Given the description of an element on the screen output the (x, y) to click on. 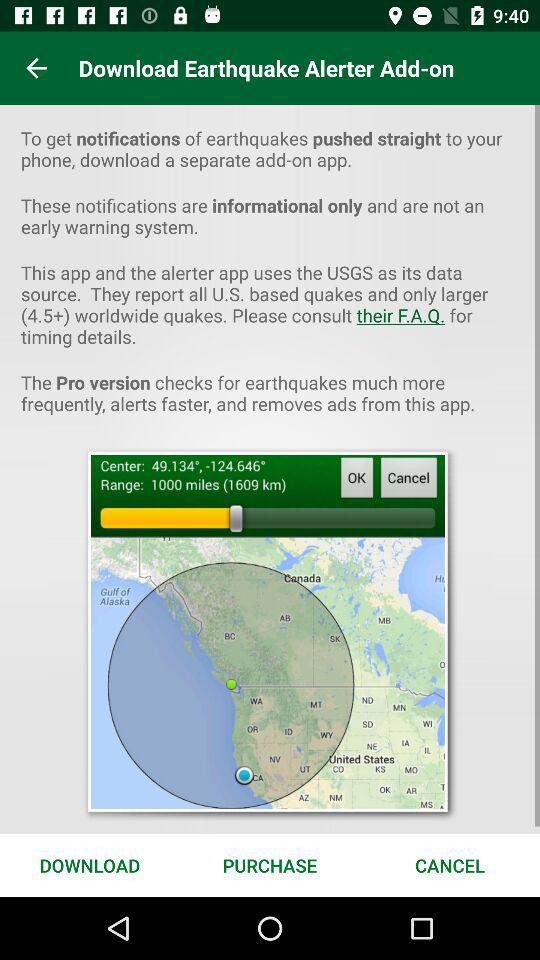
choose the app to the left of the download earthquake alerter icon (36, 68)
